Given the description of an element on the screen output the (x, y) to click on. 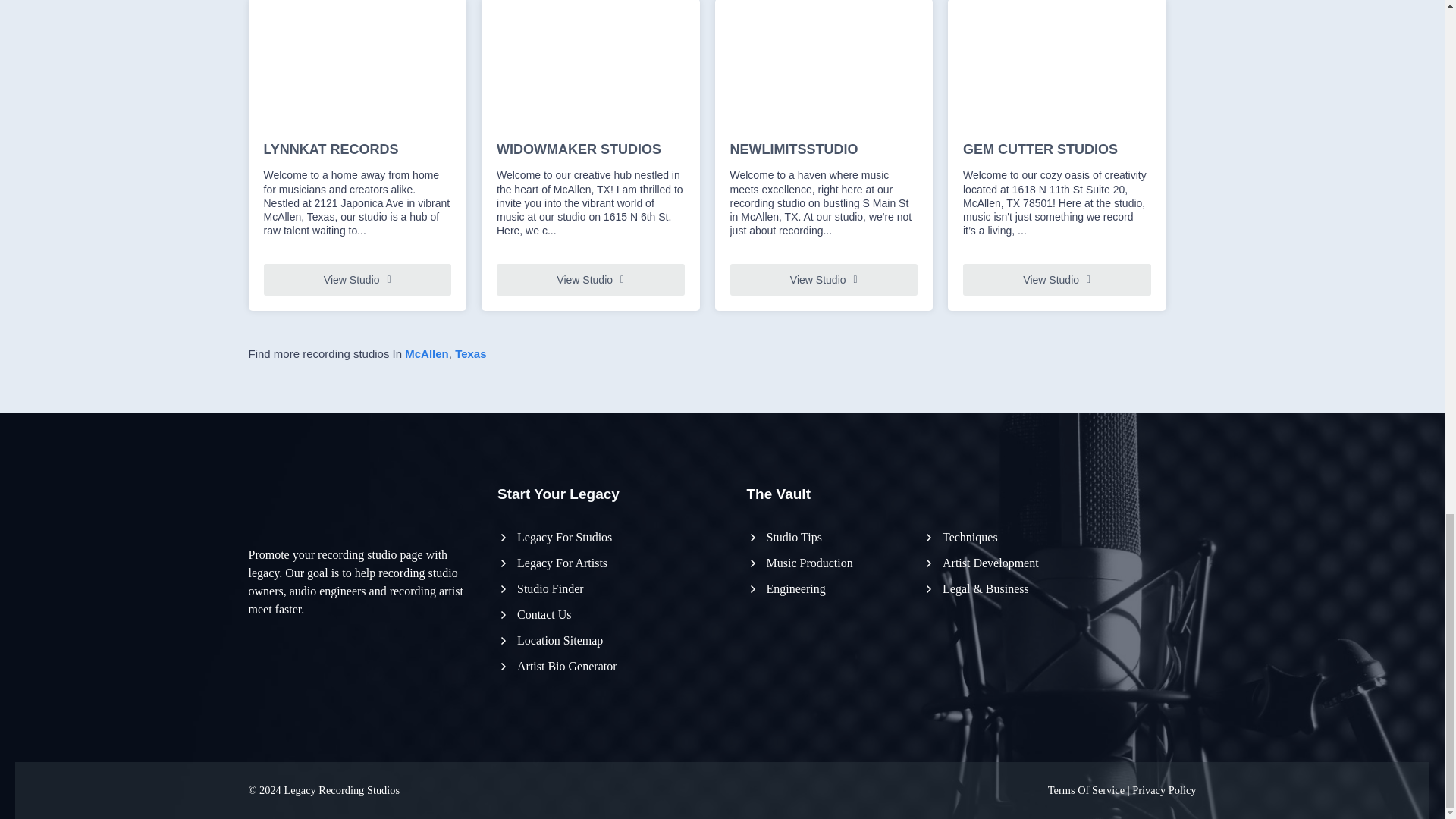
View Studio (823, 279)
LYNNKAT RECORDS (357, 150)
NEWLIMITSSTUDIO (823, 150)
View Studio (590, 279)
McAllen (426, 353)
Contact Us (534, 615)
View Studio (1056, 279)
Studio Finder (540, 588)
Texas (470, 353)
View Studio (357, 279)
WIDOWMAKER STUDIOS (590, 150)
Legacy For Artists (552, 563)
GEM CUTTER STUDIOS (1056, 150)
Legacy For Studios (554, 537)
